Given the description of an element on the screen output the (x, y) to click on. 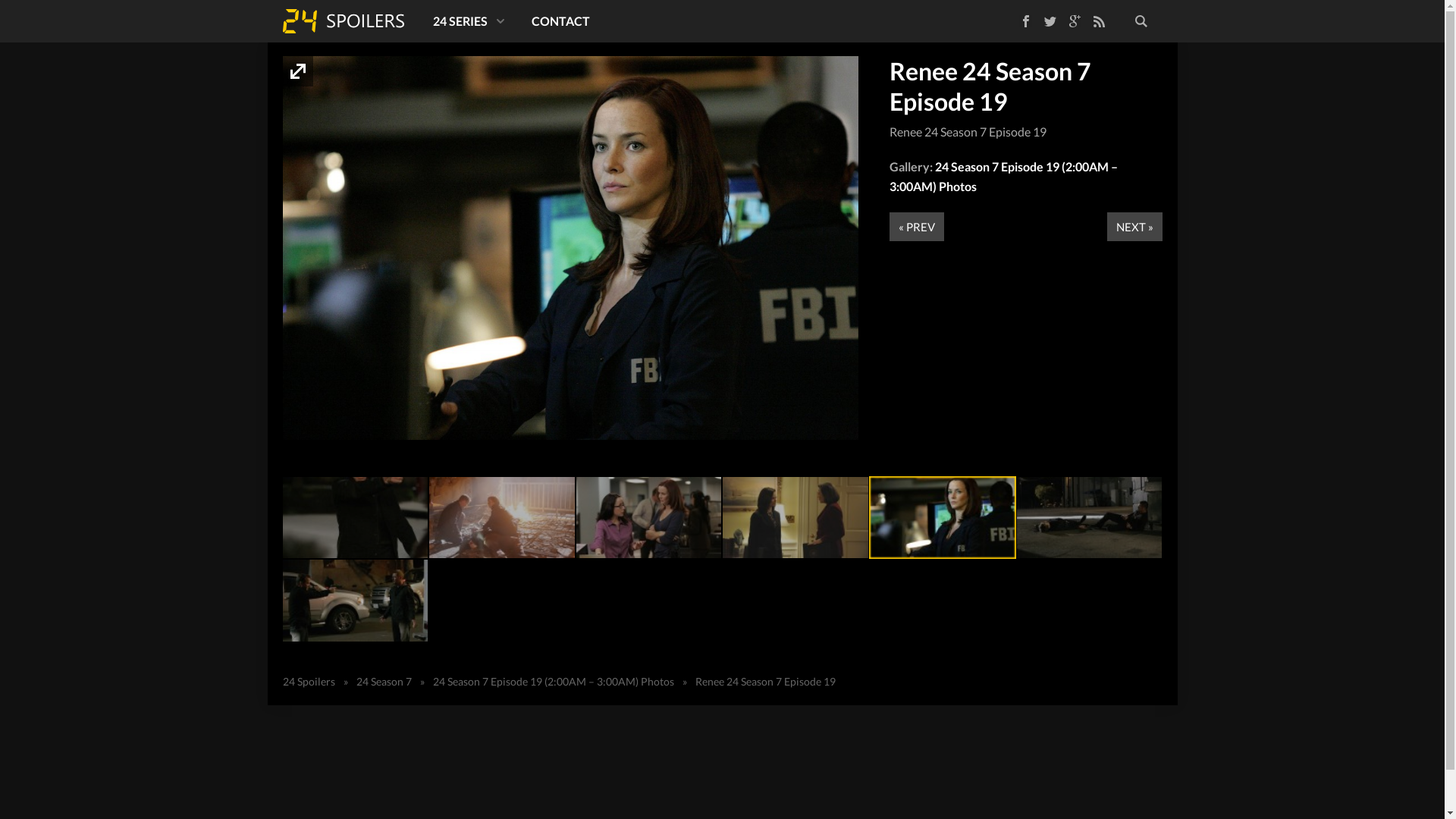
24 Season 7 Element type: text (383, 680)
RSS Feed Element type: text (1097, 21)
Twitter Element type: text (1049, 21)
Facebook Element type: text (1025, 21)
24 Spoilers Element type: text (308, 680)
CONTACT Element type: text (559, 21)
24 Spoilers Element type: text (342, 21)
Google+ Element type: text (1073, 21)
24 SERIES Element type: text (466, 21)
